Given the description of an element on the screen output the (x, y) to click on. 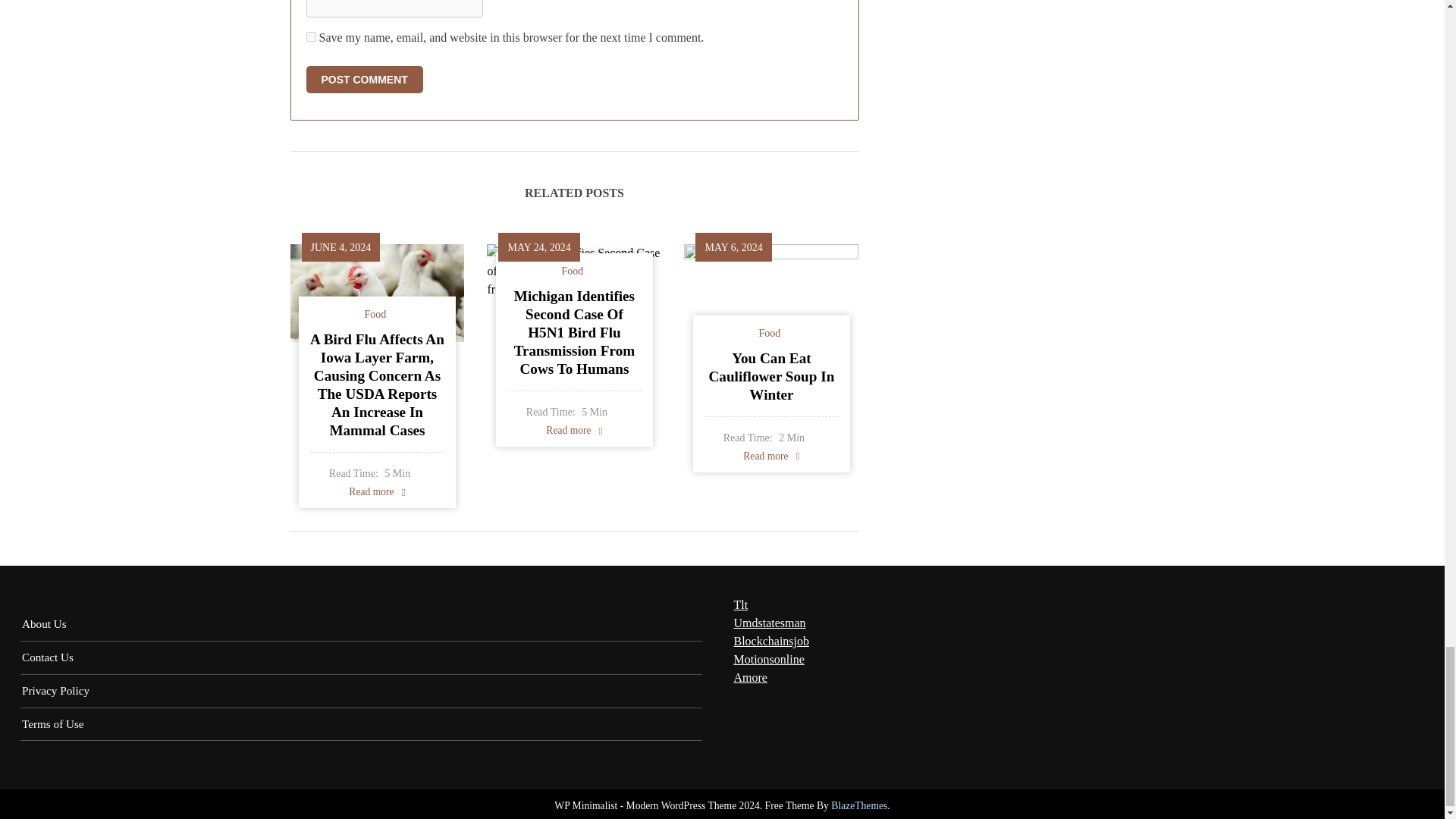
Food (376, 314)
Post Comment (364, 79)
JUNE 4, 2024 (341, 246)
yes (310, 36)
Post Comment (364, 79)
